Given the description of an element on the screen output the (x, y) to click on. 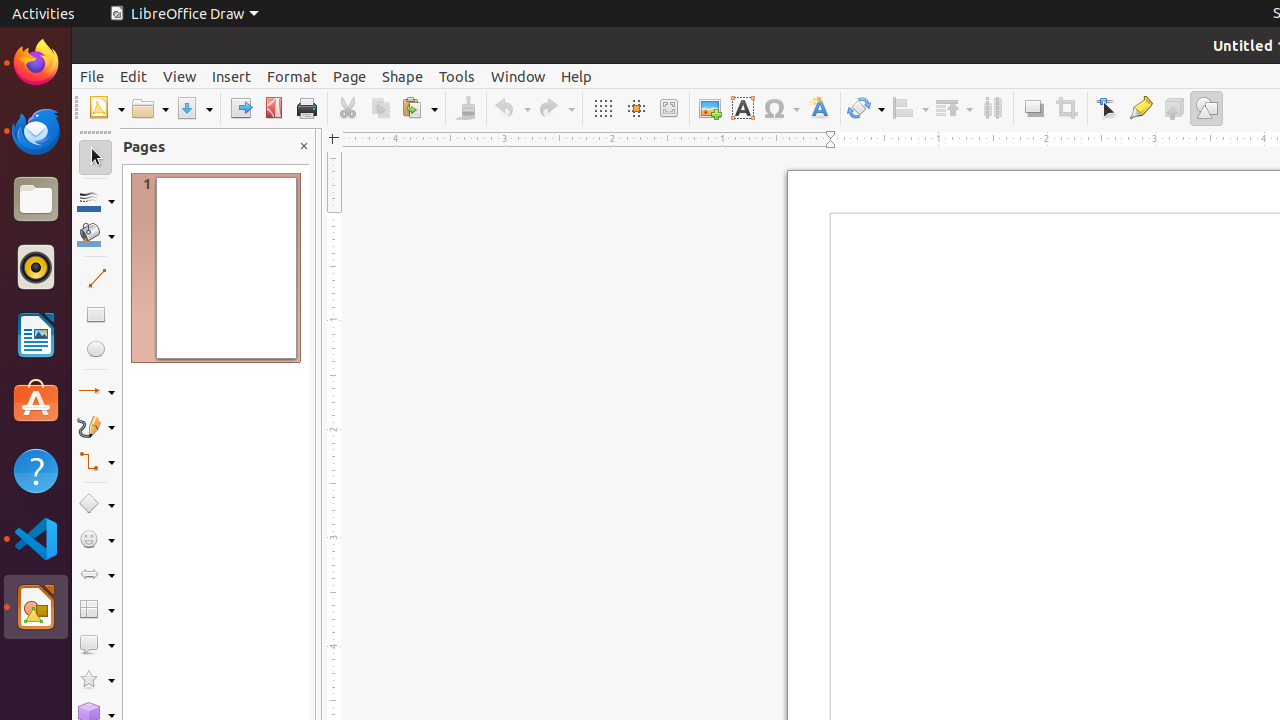
Edit Points Element type: push-button (1107, 108)
LibreOffice Draw Element type: menu (183, 13)
New Element type: push-button (106, 108)
Page Element type: menu (349, 76)
Export Element type: push-button (240, 108)
